Given the description of an element on the screen output the (x, y) to click on. 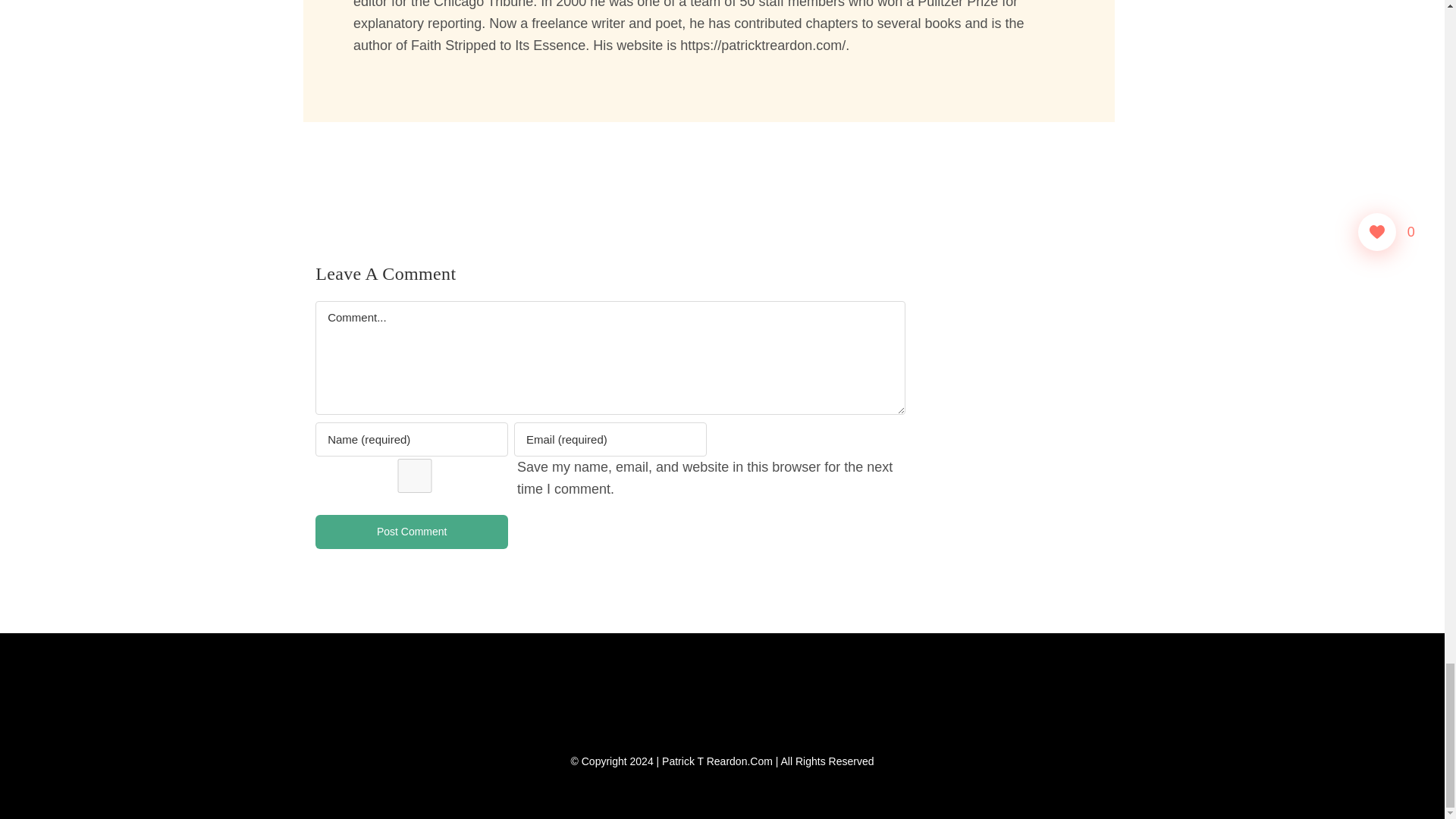
Post Comment (411, 531)
yes (414, 475)
Post Comment (411, 531)
